Given the description of an element on the screen output the (x, y) to click on. 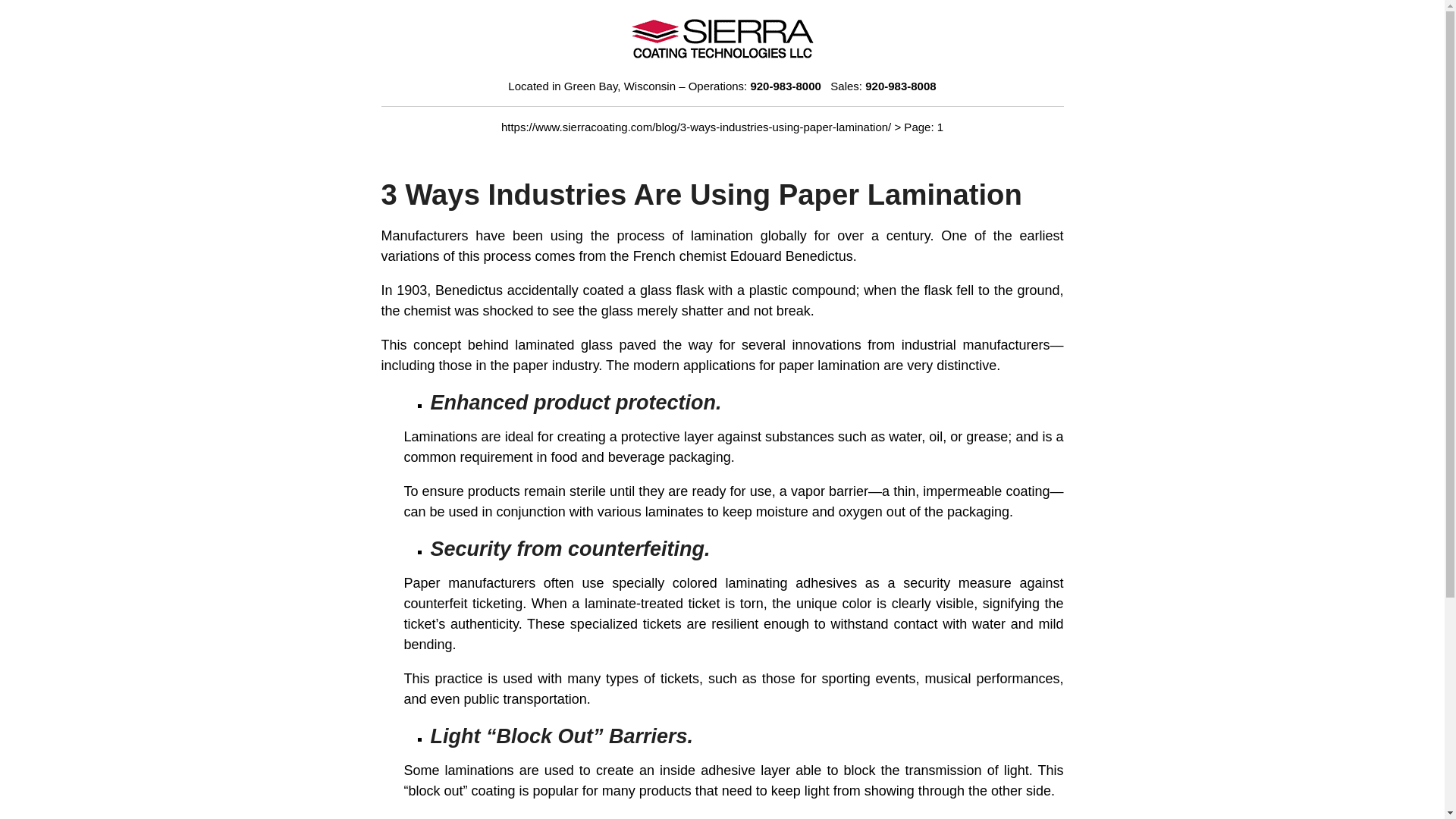
paper lamination (828, 365)
food and beverage packaging (640, 457)
Paper Lamination (828, 365)
Food Packaging Labels (640, 457)
